Given the description of an element on the screen output the (x, y) to click on. 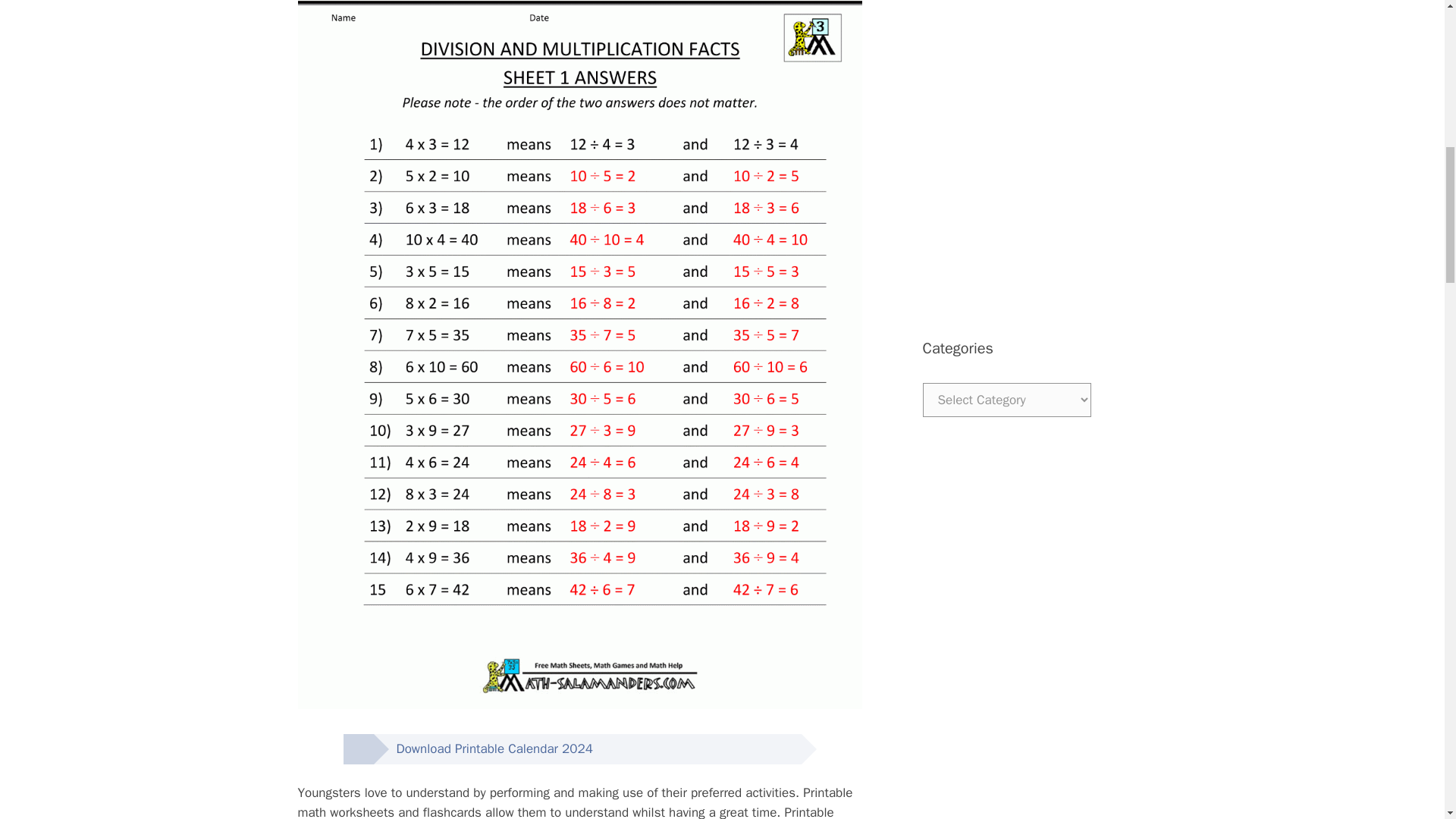
Download Printable Calendar 2024 (482, 748)
